Given the description of an element on the screen output the (x, y) to click on. 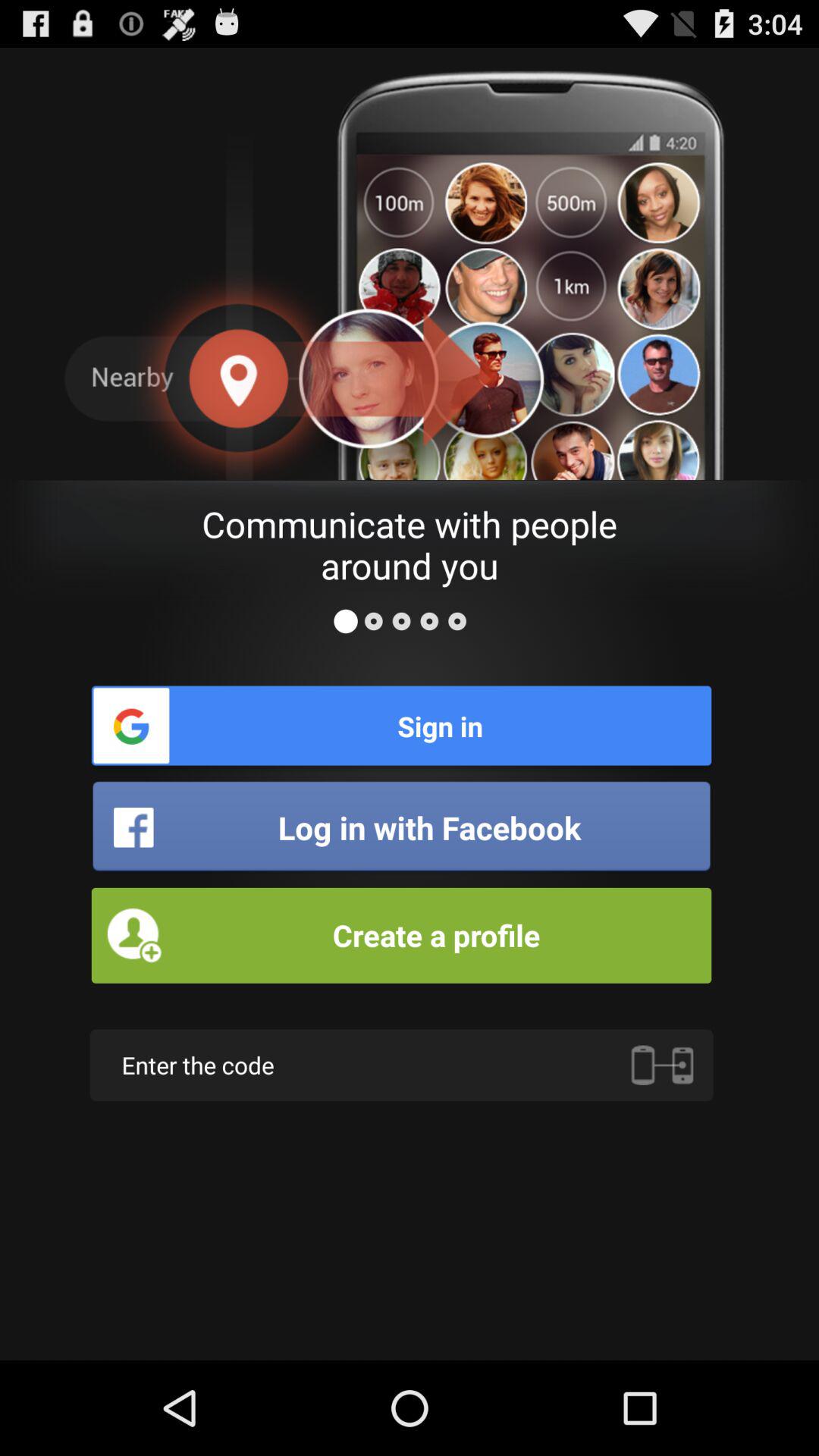
turn off sign in icon (401, 725)
